Given the description of an element on the screen output the (x, y) to click on. 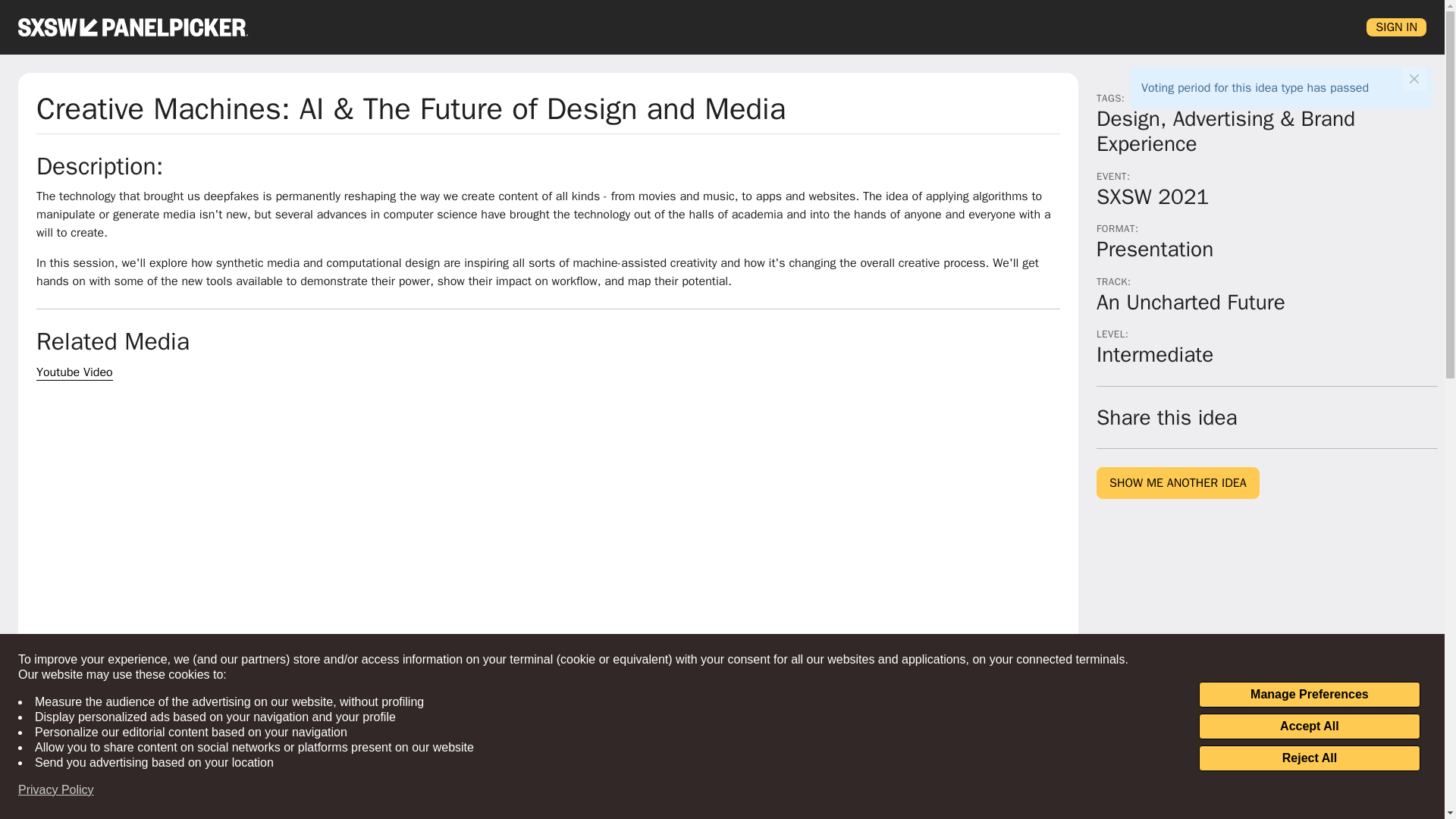
SXSW PanelPicker (132, 27)
Accept All (1309, 726)
Privacy Policy (55, 789)
Youtube Video (74, 372)
Reject All (1309, 758)
Design (1128, 118)
Show me another SXSW idea (1177, 482)
Manage Preferences (1309, 694)
SHOW ME ANOTHER IDEA (1177, 482)
SIGN IN (1396, 27)
SXSW PanelPicker (132, 27)
